Given the description of an element on the screen output the (x, y) to click on. 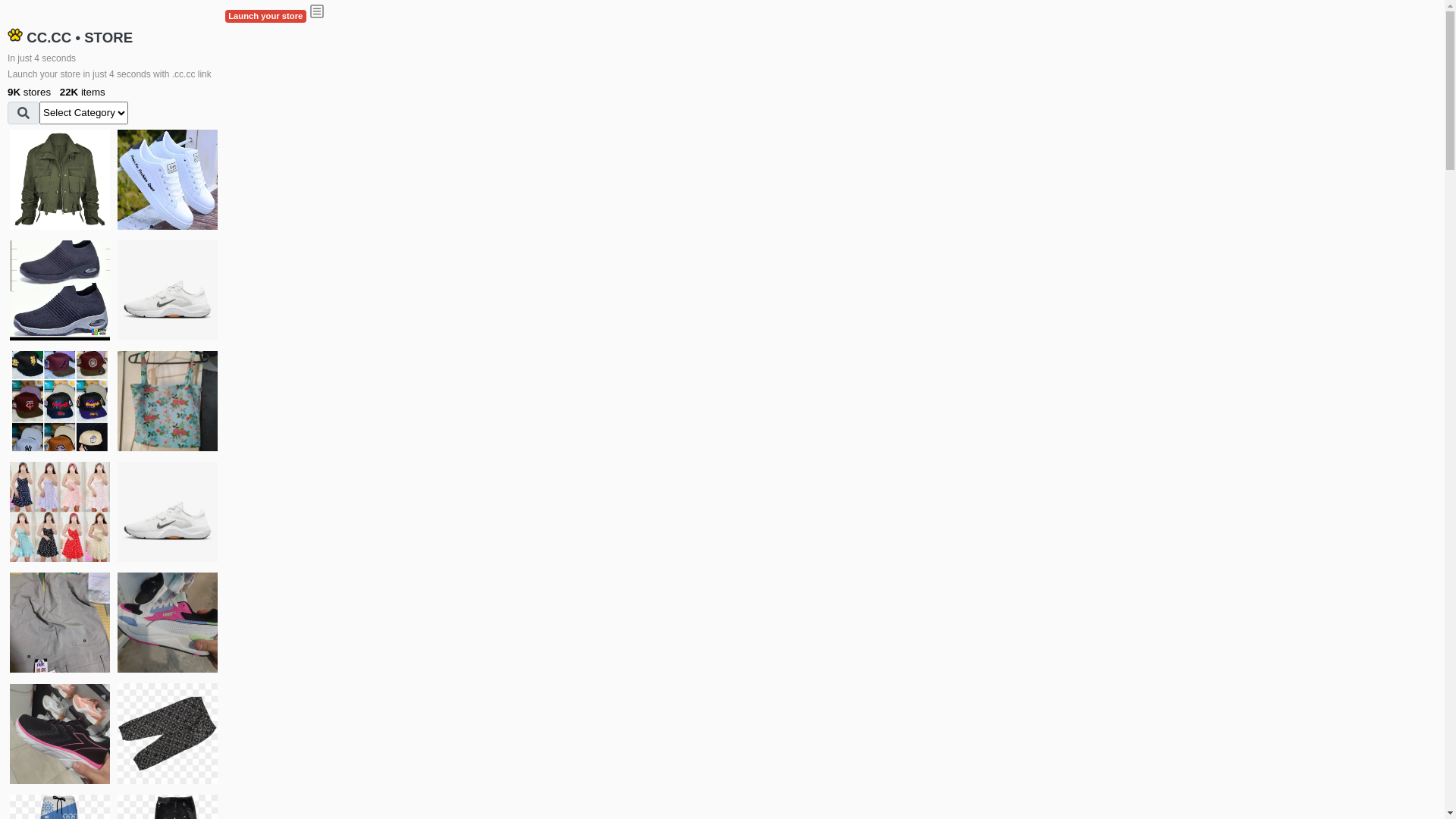
Launch your store Element type: text (265, 15)
Things we need Element type: hover (59, 401)
jacket Element type: hover (59, 179)
Shoes for boys Element type: hover (167, 290)
shoes for boys Element type: hover (59, 290)
Zapatillas Element type: hover (59, 734)
Dress/square nect top Element type: hover (59, 511)
Short pant Element type: hover (167, 733)
Shoes Element type: hover (167, 511)
white shoes Element type: hover (167, 179)
Zapatillas pumas Element type: hover (167, 622)
Ukay cloth Element type: hover (167, 401)
